Given the description of an element on the screen output the (x, y) to click on. 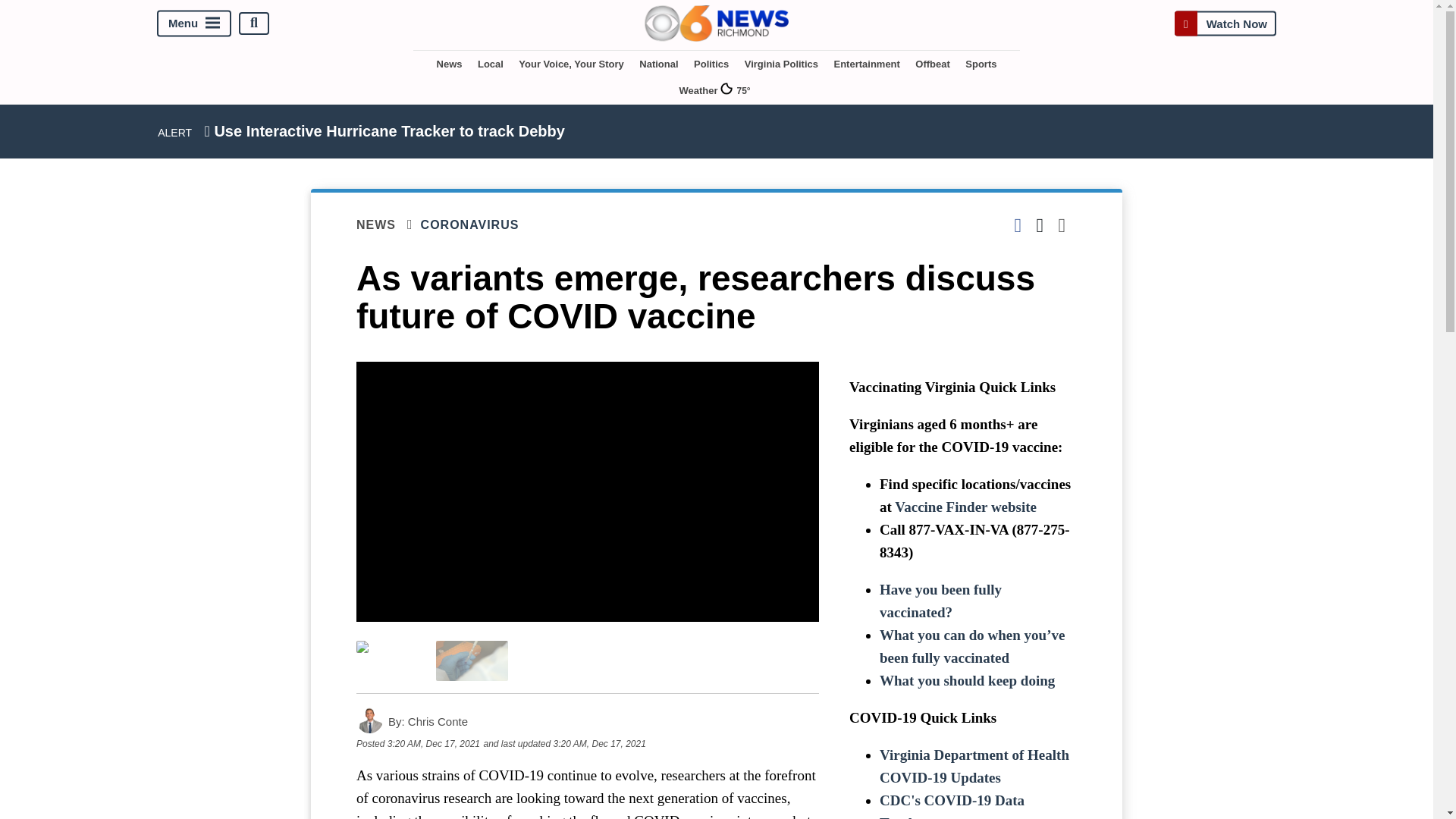
Menu (194, 22)
Watch Now (1224, 22)
